Given the description of an element on the screen output the (x, y) to click on. 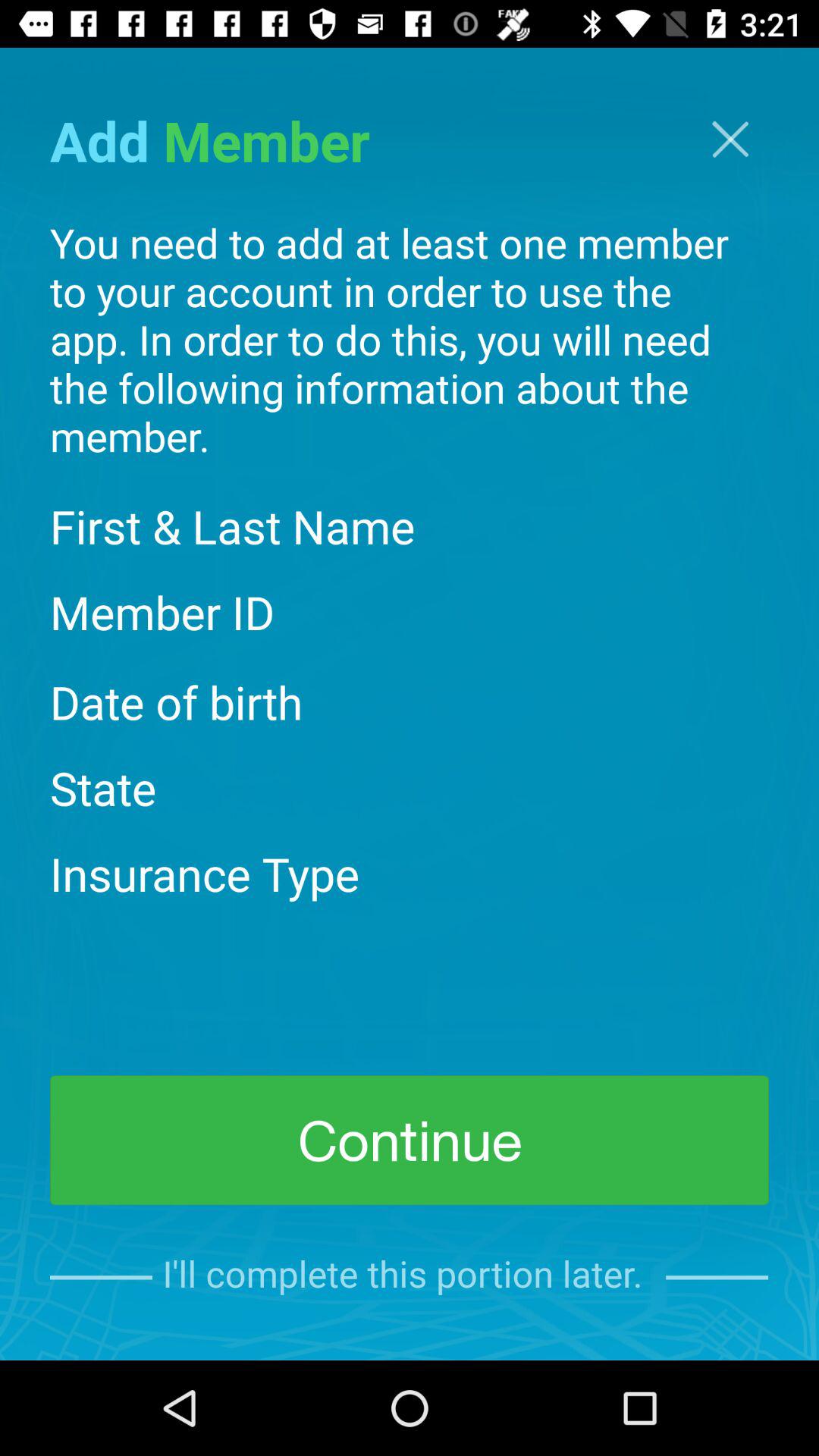
jump to the continue item (409, 1140)
